Given the description of an element on the screen output the (x, y) to click on. 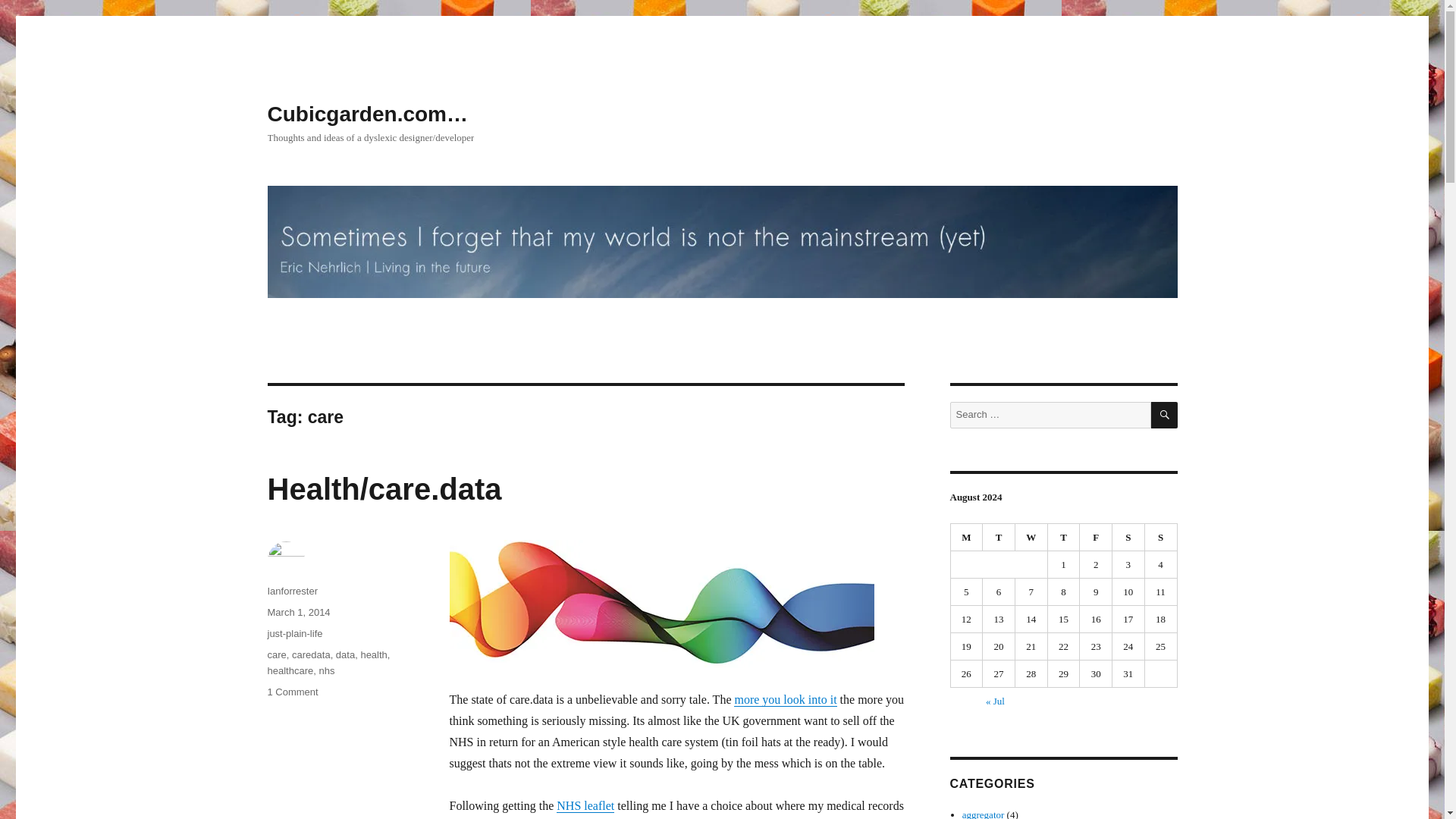
Monday (967, 537)
Wednesday (1031, 537)
healthcare (289, 670)
Saturday (1128, 537)
NHS leaflet (585, 805)
Tuesday (998, 537)
care (275, 654)
nhs (326, 670)
health (373, 654)
data (345, 654)
just-plain-life (293, 633)
Thursday (1064, 537)
aggregator (983, 814)
caredata (291, 691)
